Given the description of an element on the screen output the (x, y) to click on. 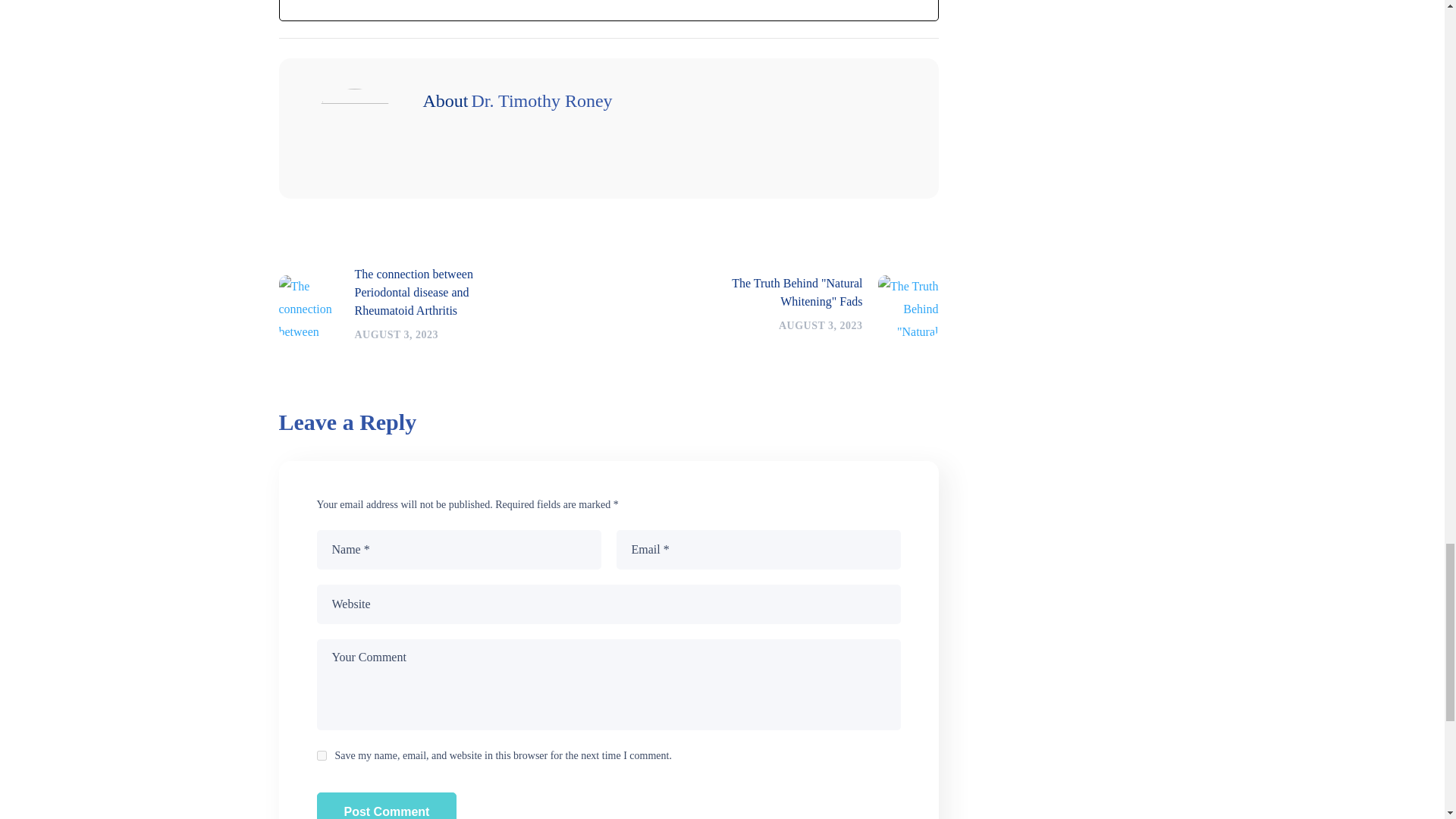
Website (814, 306)
See Full Bio (609, 604)
The Truth Behind "Natural Whitening" Fads (443, 1)
yes (814, 306)
Post Comment (321, 755)
